Given the description of an element on the screen output the (x, y) to click on. 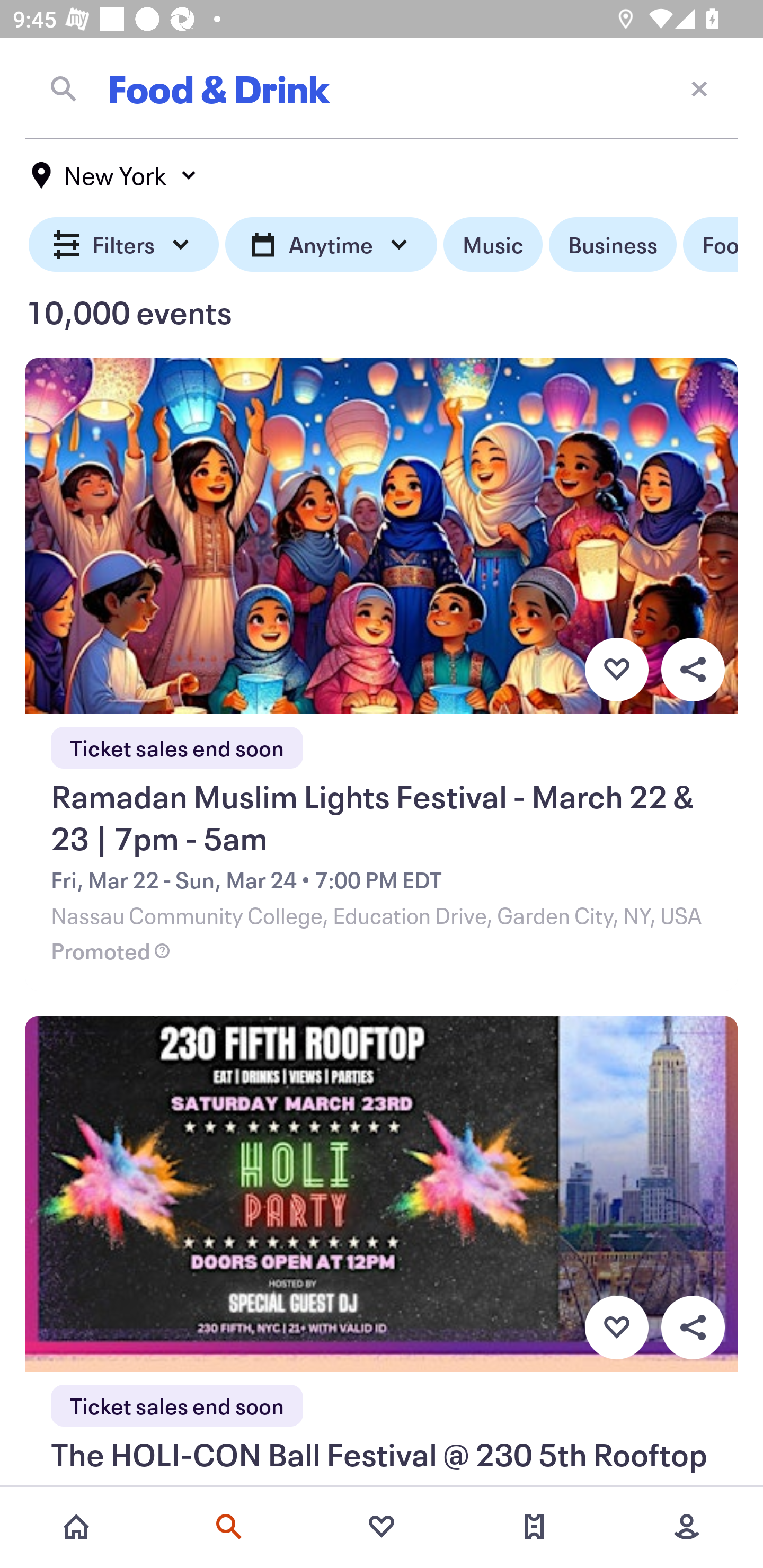
Food & Drink Close current screen (381, 88)
Close current screen (699, 88)
New York (114, 175)
Filters (123, 244)
Anytime (331, 244)
Music (492, 244)
Business (612, 244)
Favorite button (616, 669)
Overflow menu button (692, 669)
Favorite button (616, 1326)
Overflow menu button (692, 1326)
Home (76, 1526)
Search events (228, 1526)
Favorites (381, 1526)
Tickets (533, 1526)
More (686, 1526)
